Given the description of an element on the screen output the (x, y) to click on. 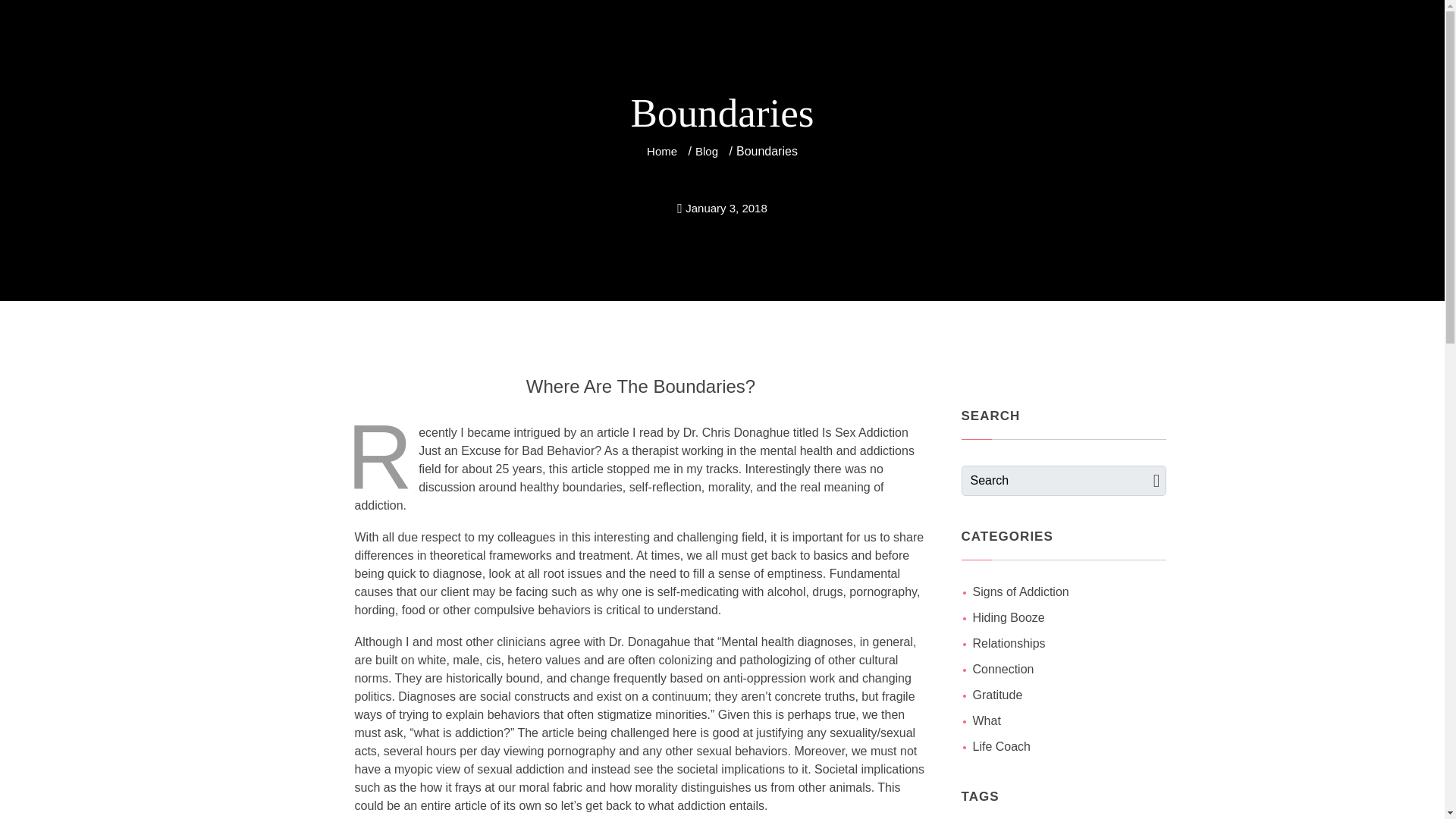
Connection (1002, 668)
Hiding Booze (1007, 617)
Home (661, 151)
What (986, 720)
Blog (706, 151)
Life Coach (1001, 746)
Signs of Addiction (1020, 591)
Relationships (1008, 643)
Gratitude (997, 694)
